Given the description of an element on the screen output the (x, y) to click on. 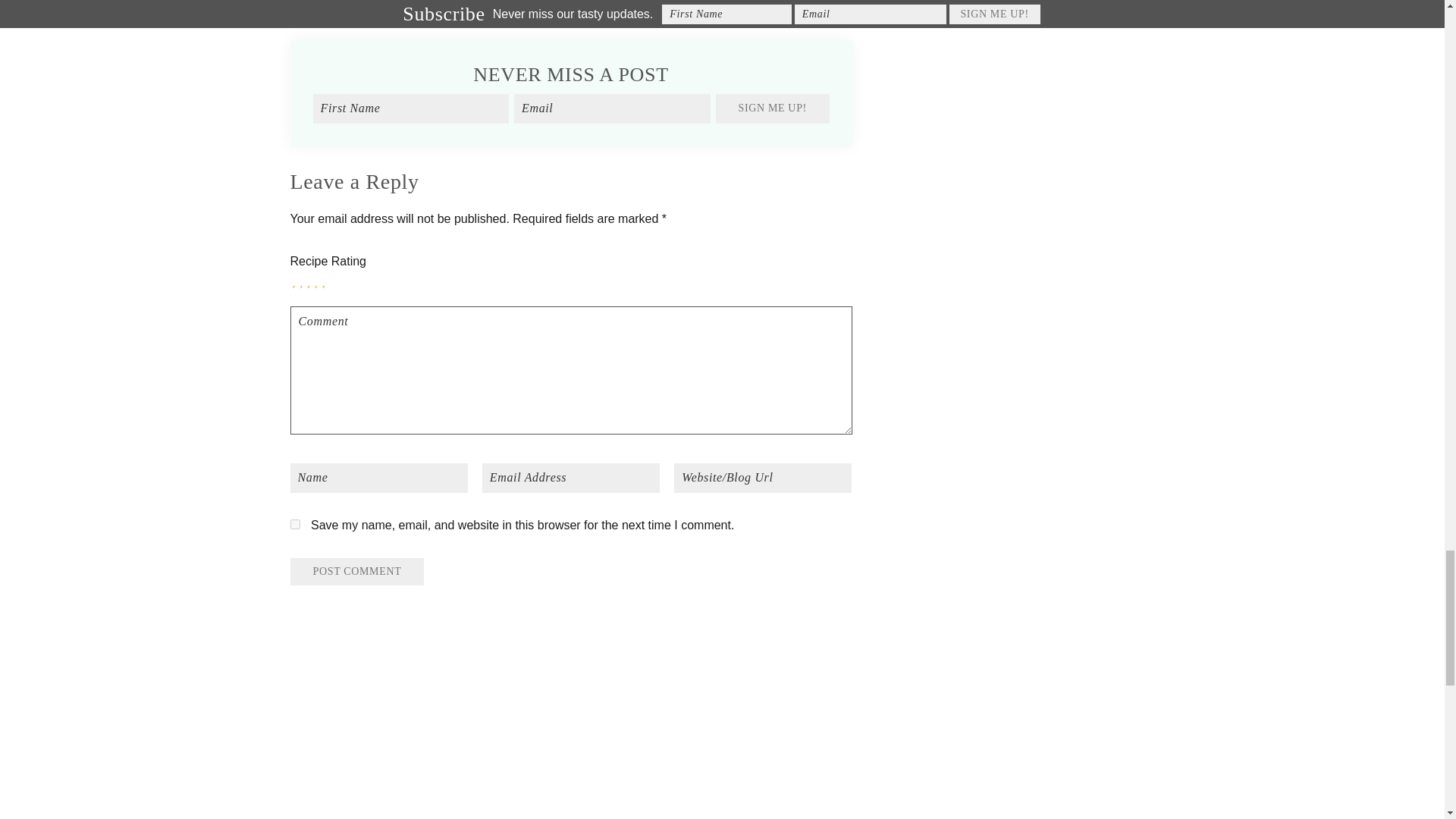
yes (294, 524)
Post Comment (356, 571)
SIGN ME UP! (772, 108)
